Given the description of an element on the screen output the (x, y) to click on. 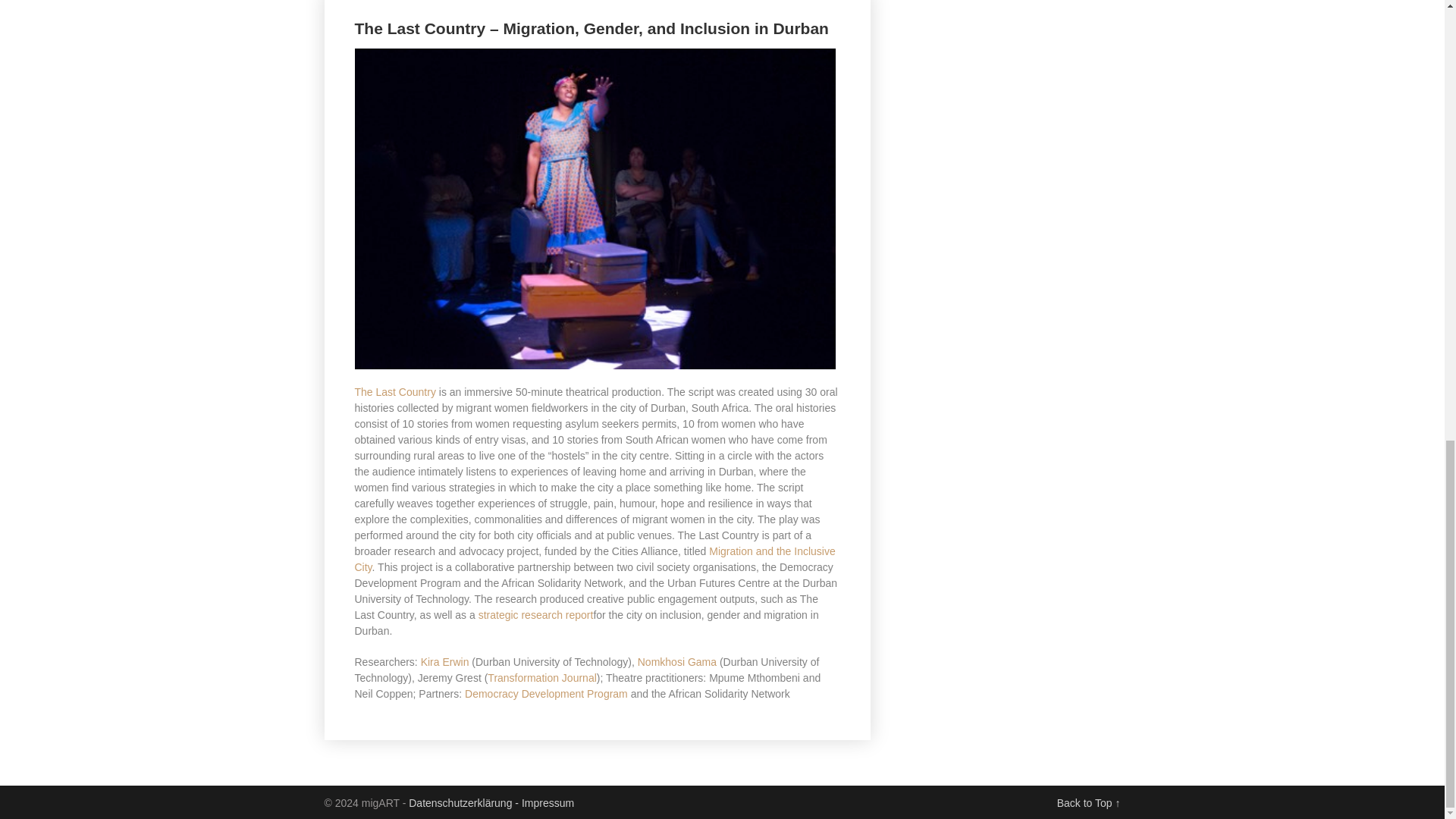
Transformation Journal (541, 677)
Nomkhosi Gama (676, 662)
Migration and the Inclusive City (595, 559)
The Last Country (395, 391)
Kira Erwin (444, 662)
Democracy Development Program (545, 693)
strategic research report (536, 614)
